Given the description of an element on the screen output the (x, y) to click on. 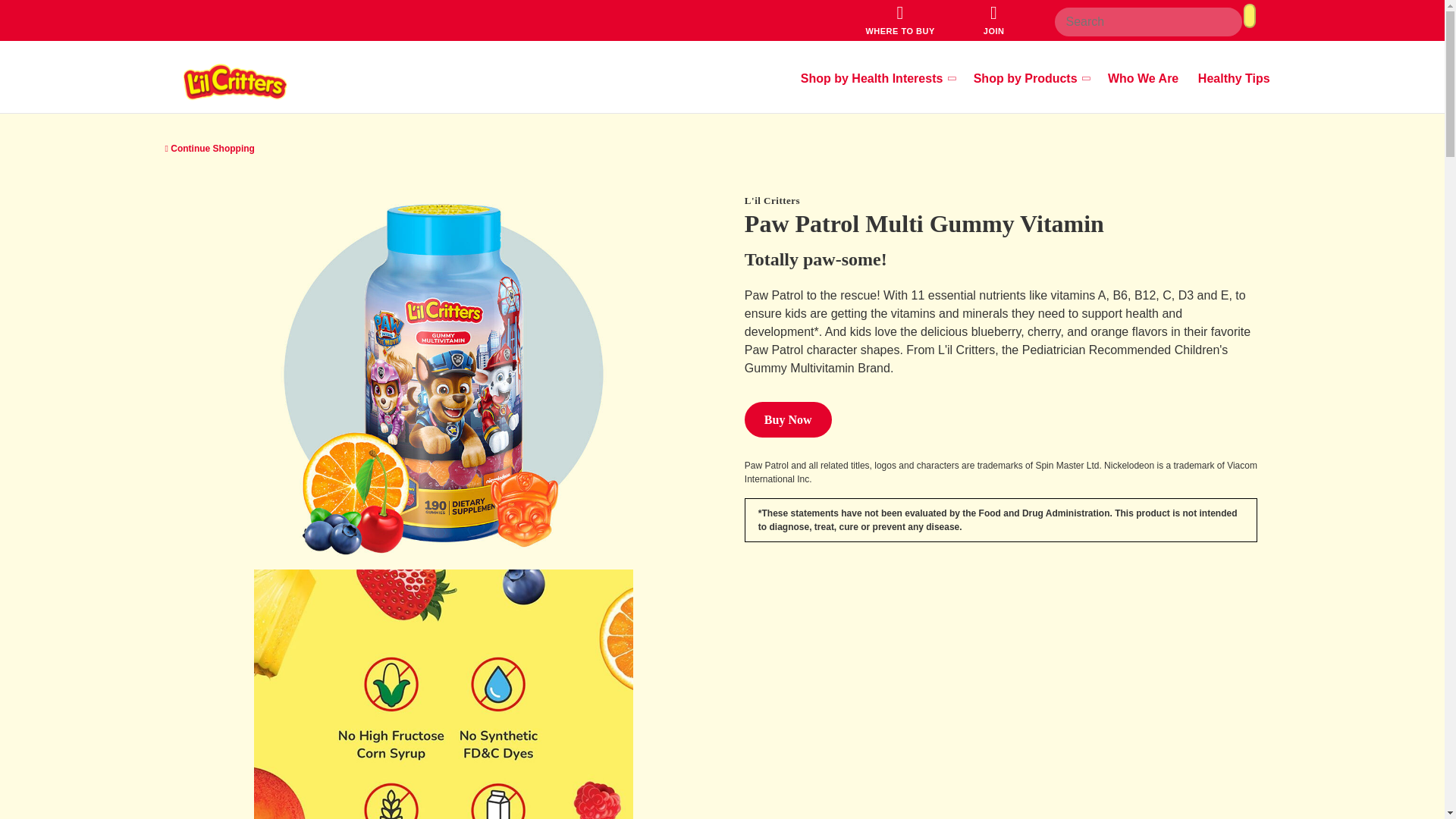
WHERE TO BUY (899, 20)
Continue Shopping (209, 148)
Who We Are (1142, 78)
Buy Now (787, 419)
Healthy Tips (1233, 78)
